Given the description of an element on the screen output the (x, y) to click on. 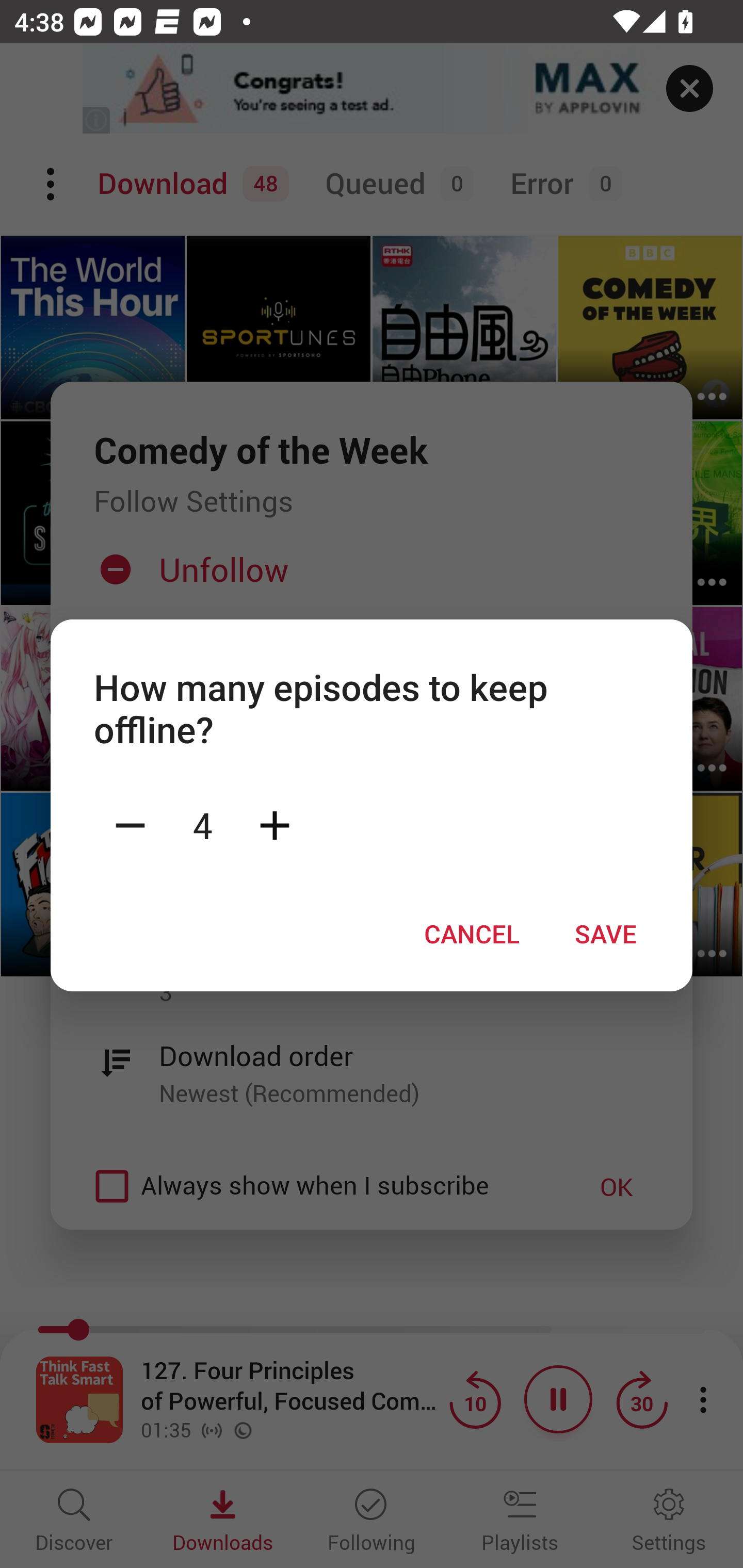
Minus (129, 824)
Plus (274, 824)
CANCEL (470, 933)
SAVE (605, 933)
